Given the description of an element on the screen output the (x, y) to click on. 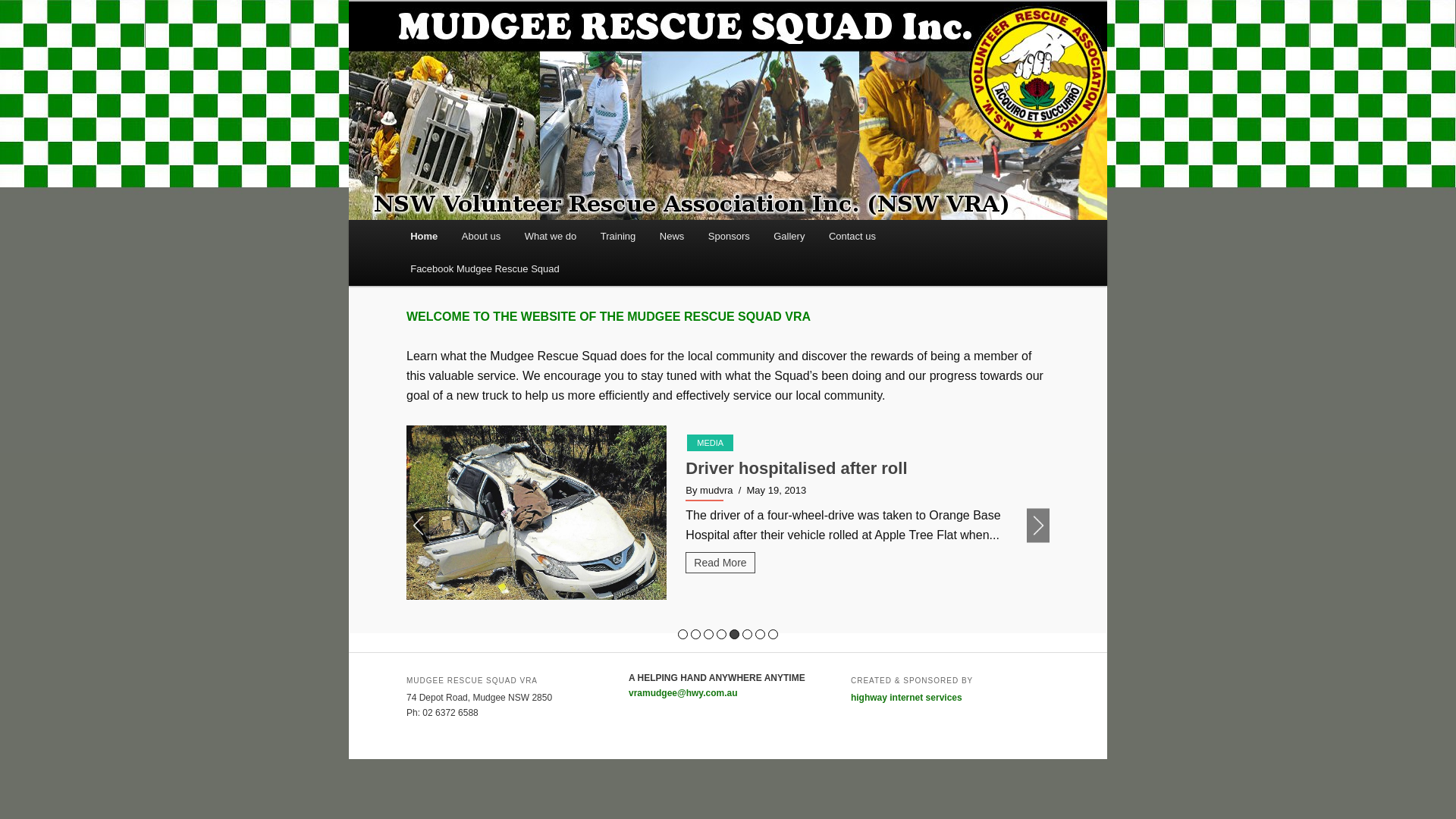
Skip to primary content Element type: text (420, 219)
News Element type: text (671, 235)
1 Element type: text (682, 634)
highway internet services Element type: text (906, 697)
Next Element type: text (1037, 525)
6 Element type: text (747, 634)
7 Element type: text (760, 634)
MEDIA Element type: text (710, 442)
Rescue Squad receives heart-felt addition Element type: text (851, 467)
Gallery Element type: text (788, 235)
vramudgee@hwy.com.au Element type: text (682, 692)
Facebook Mudgee Rescue Squad Element type: text (484, 268)
5 Element type: text (734, 634)
Read More Element type: text (719, 582)
2 Element type: text (695, 634)
Previous Element type: text (417, 525)
3 Element type: text (708, 634)
Contact us Element type: text (852, 235)
Sponsors Element type: text (728, 235)
Training Element type: text (617, 235)
Home Element type: text (423, 235)
4 Element type: text (721, 634)
What we do Element type: text (550, 235)
8 Element type: text (773, 634)
About us Element type: text (480, 235)
